Given the description of an element on the screen output the (x, y) to click on. 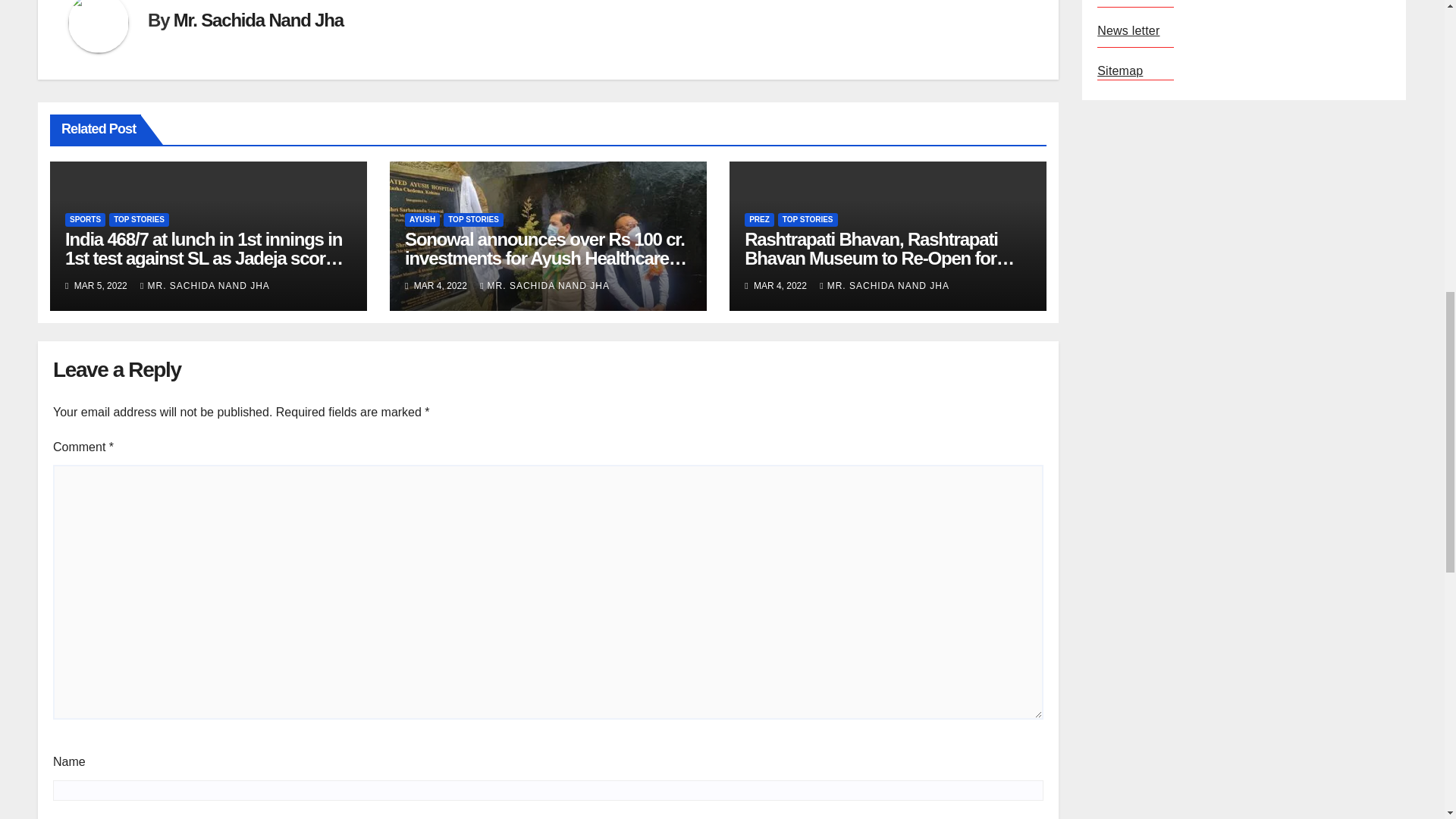
SPORTS (84, 219)
Mr. Sachida Nand Jha (258, 19)
TOP STORIES (138, 219)
